Given the description of an element on the screen output the (x, y) to click on. 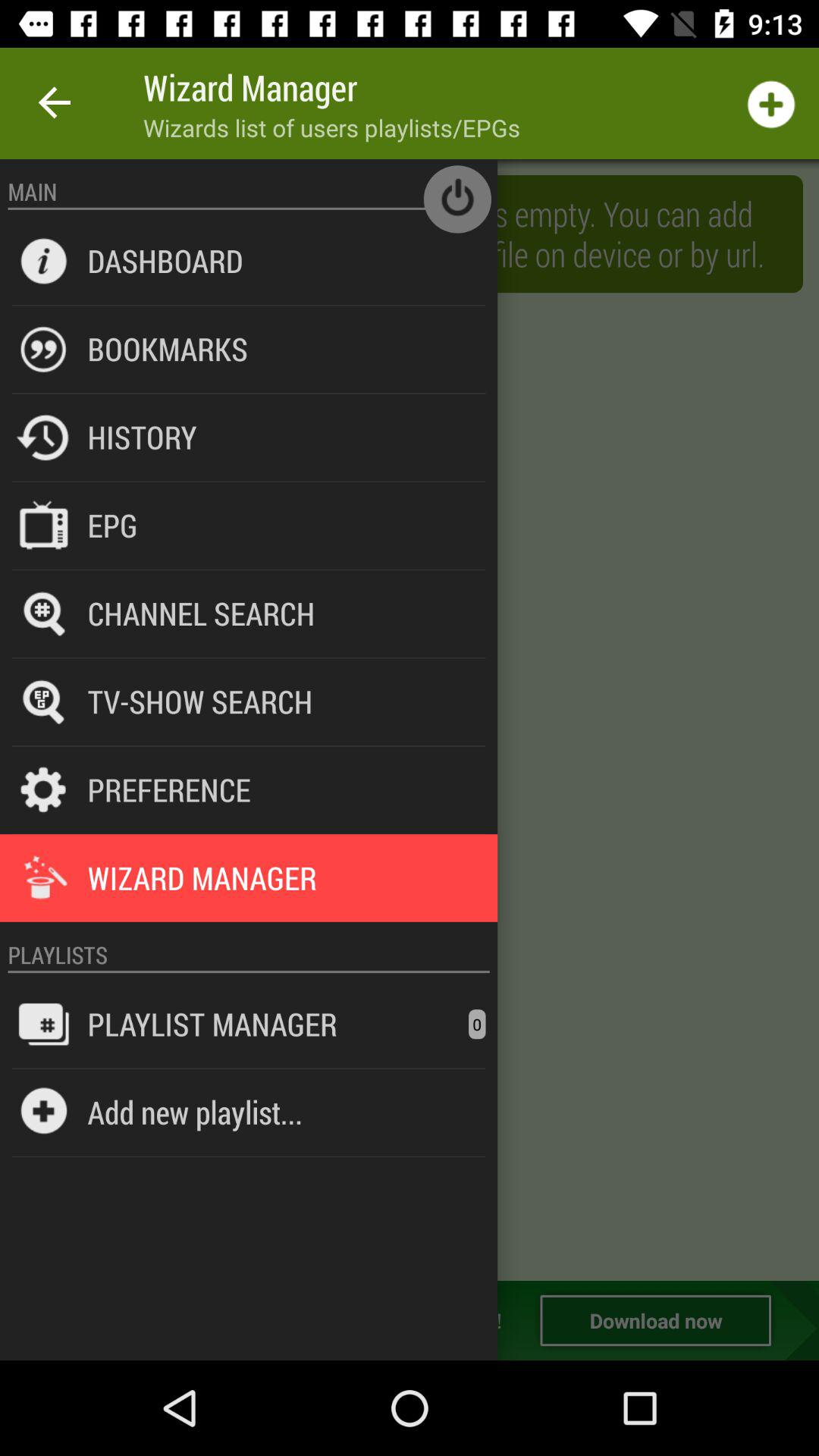
launch the icon next to playlist manager (476, 1024)
